Given the description of an element on the screen output the (x, y) to click on. 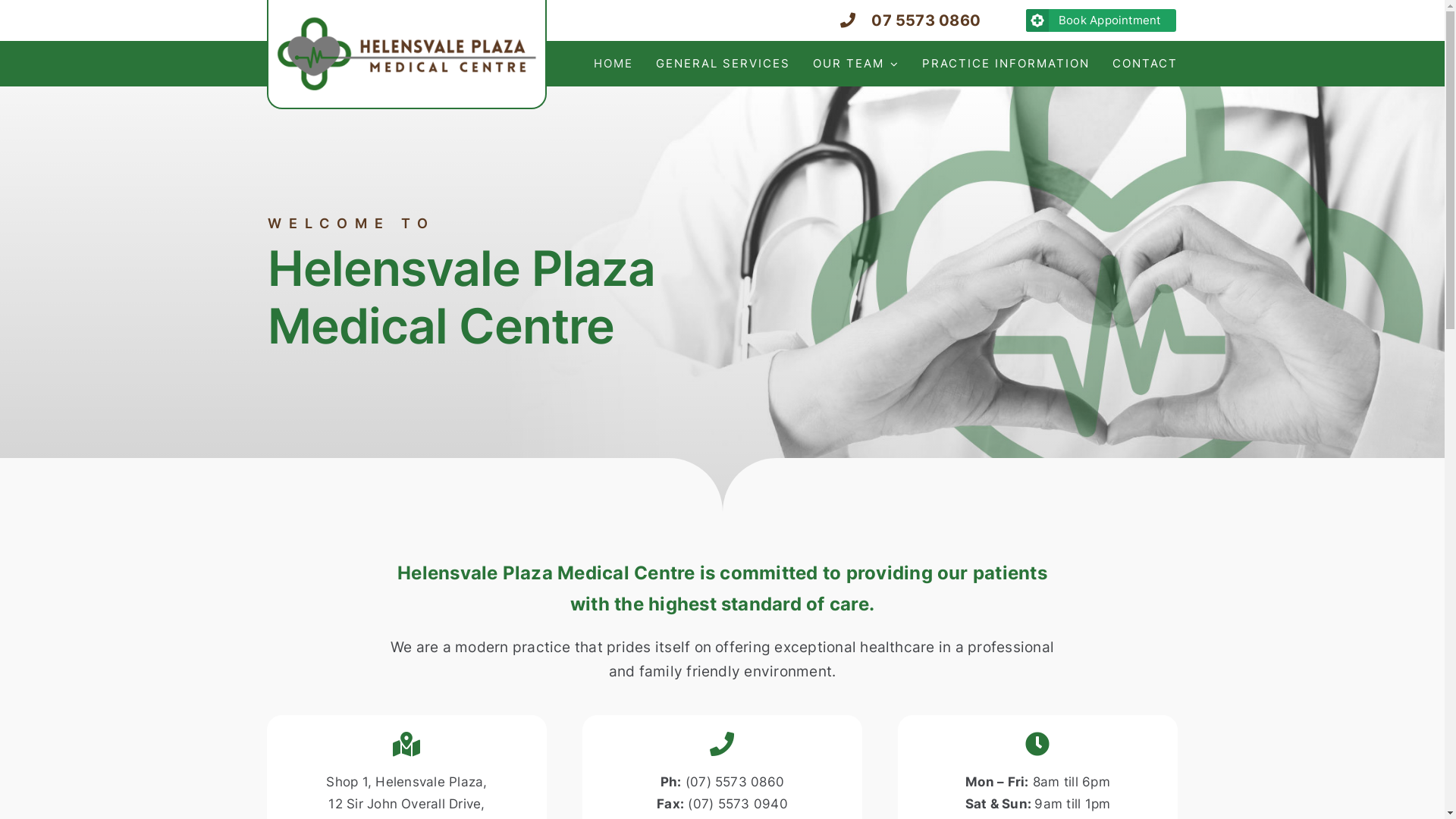
HOME Element type: text (613, 63)
PRACTICE INFORMATION Element type: text (1005, 63)
GENERAL SERVICES Element type: text (722, 63)
OUR TEAM Element type: text (855, 63)
helensvale medical Element type: hover (406, 53)
CONTACT Element type: text (1144, 63)
Book Appointment Element type: text (1100, 20)
